Given the description of an element on the screen output the (x, y) to click on. 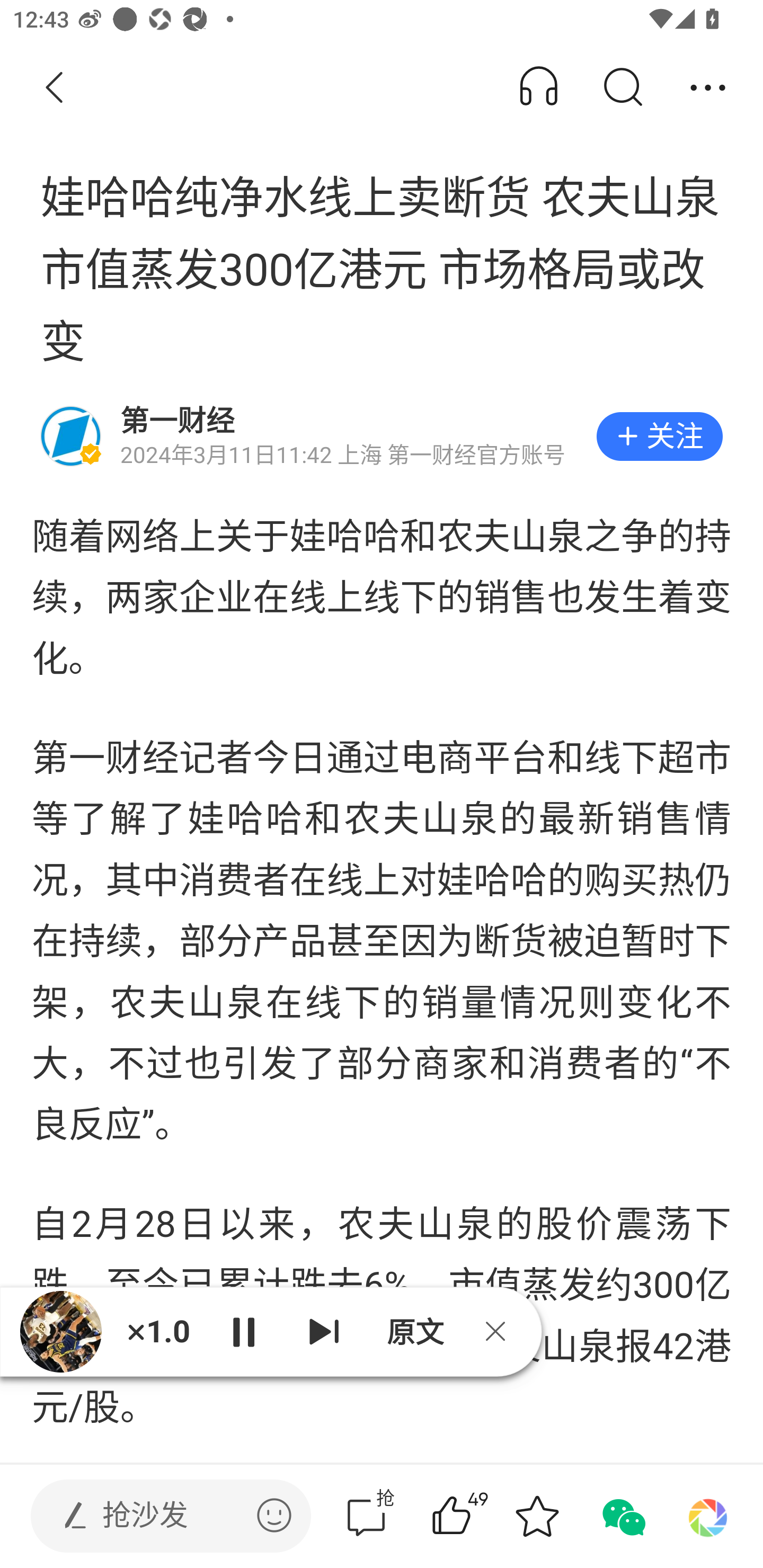
搜索  (622, 87)
分享  (707, 87)
 返回 (54, 87)
第一财经 2024年3月11日11:42 上海 第一财经官方账号  关注 (381, 436)
 关注 (659, 436)
播放器 (61, 1331)
 播放 (242, 1330)
 下一个 (323, 1330)
 关闭 (501, 1330)
原文 (413, 1331)
 1.0 (157, 1330)
发表评论  抢沙发 发表评论  (155, 1516)
抢评论  抢 评论 (365, 1516)
49赞 (476, 1516)
收藏  (536, 1516)
分享到微信  (622, 1516)
分享到朋友圈 (707, 1516)
 (274, 1515)
